Given the description of an element on the screen output the (x, y) to click on. 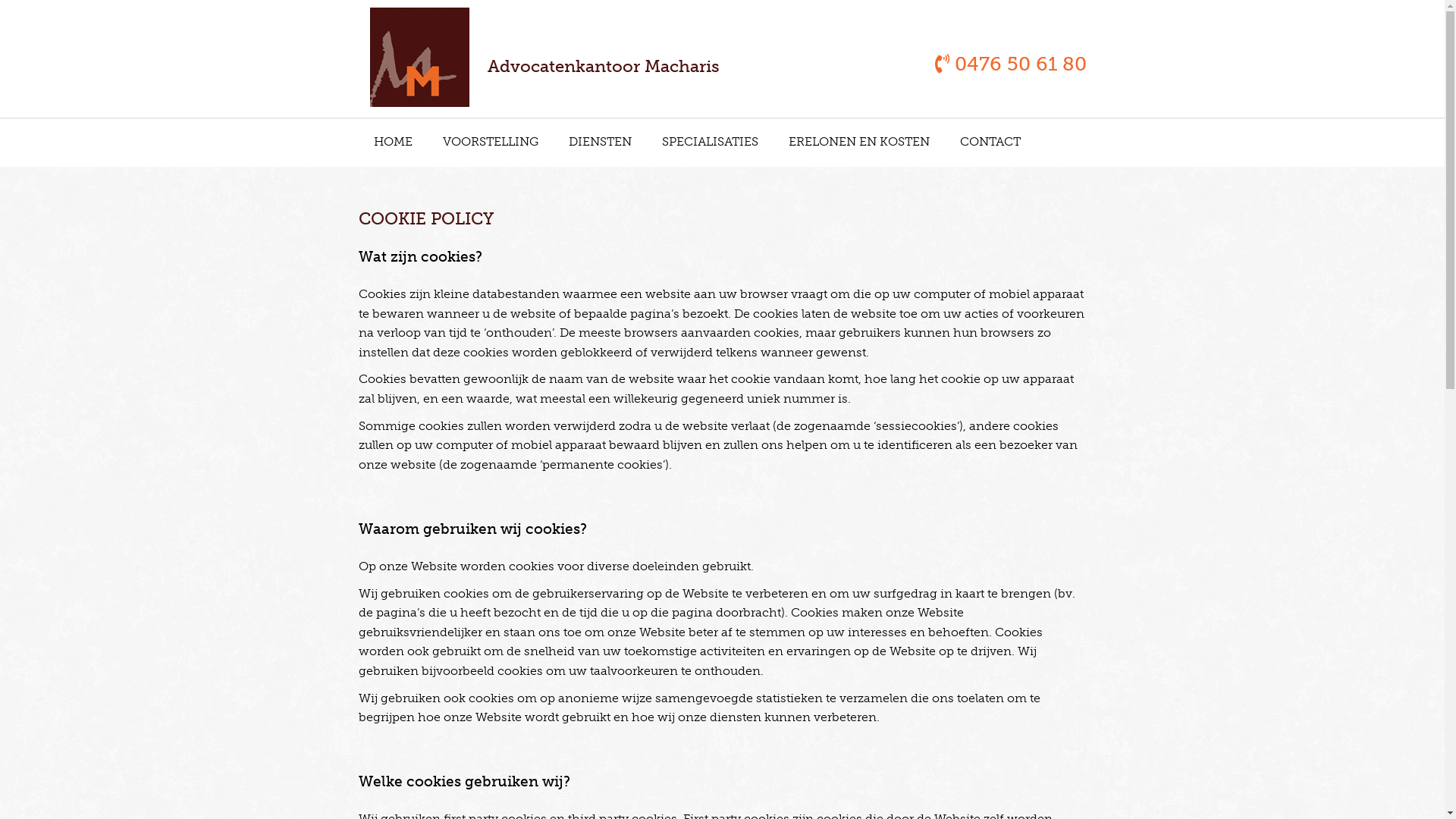
ERELONEN EN KOSTEN Element type: text (858, 141)
HOME Element type: text (391, 141)
VOORSTELLING Element type: text (490, 141)
SPECIALISATIES Element type: text (709, 141)
CONTACT Element type: text (989, 141)
DIENSTEN Element type: text (599, 141)
